Given the description of an element on the screen output the (x, y) to click on. 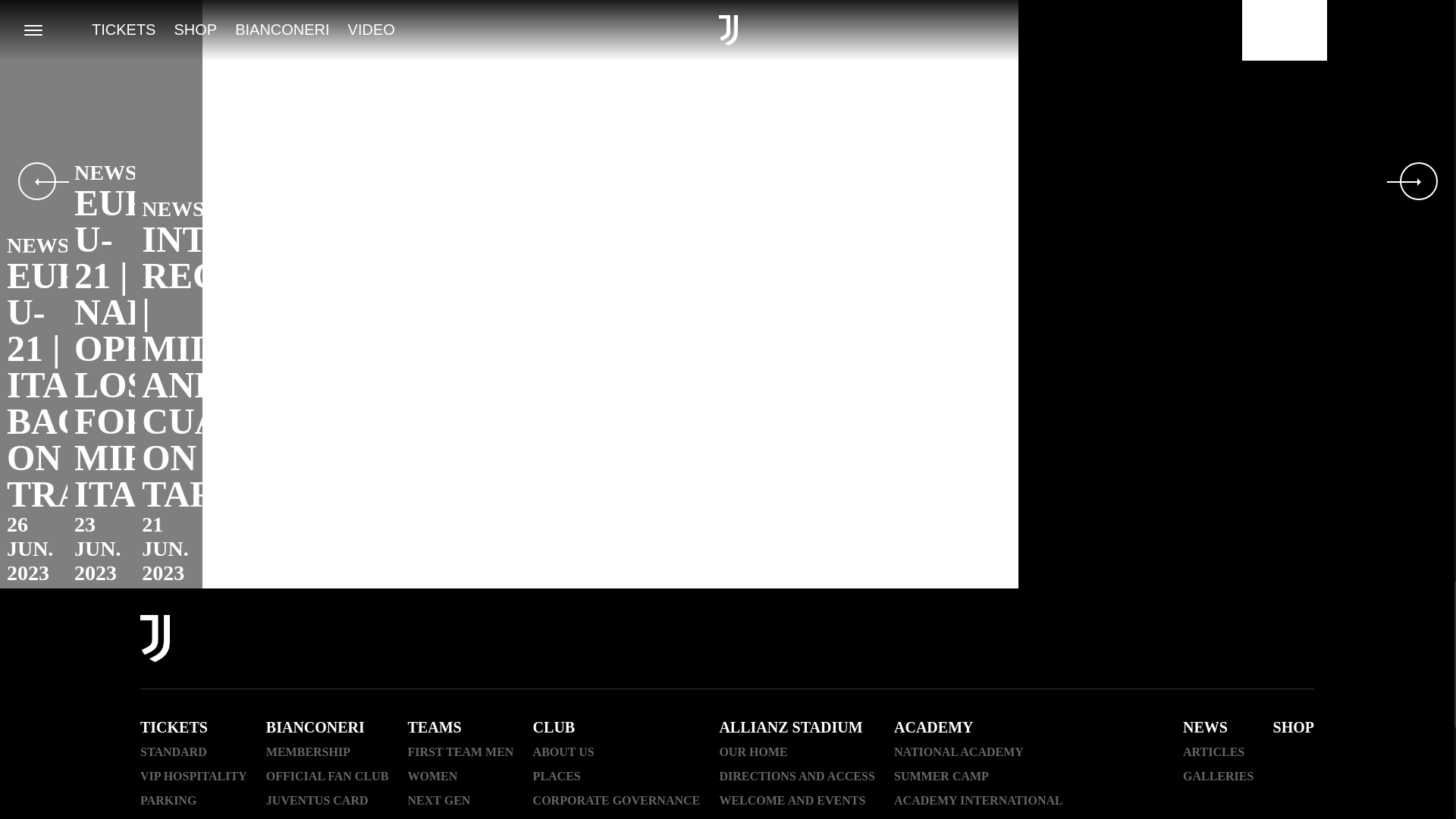
Link To Homepage (154, 640)
Threads (1104, 640)
Instagram (1064, 640)
Youtube (1144, 640)
Facebook (1025, 640)
